Given the description of an element on the screen output the (x, y) to click on. 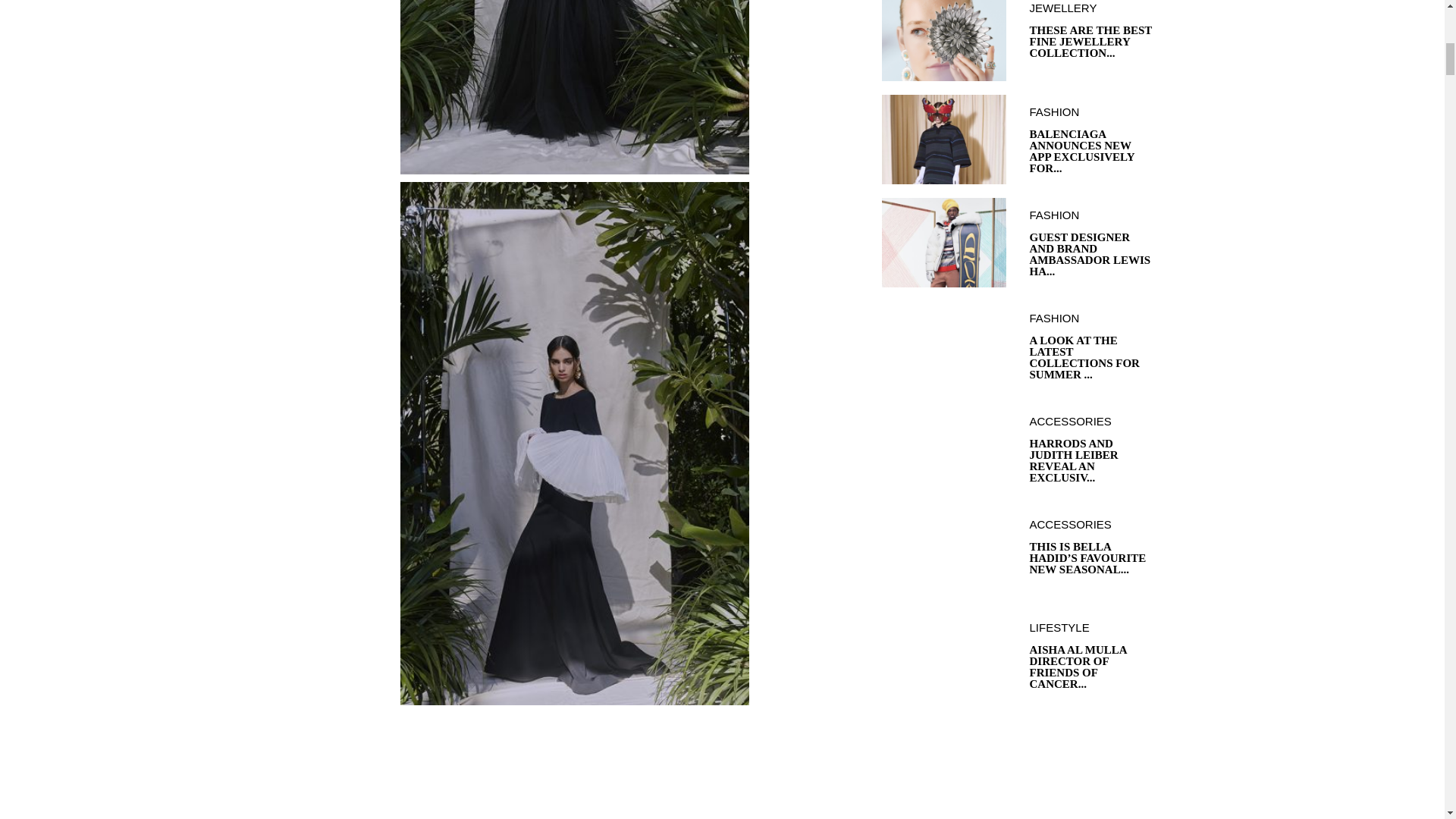
FASHION (1091, 111)
THESE ARE THE BEST FINE JEWELLERY COLLECTION... (1091, 41)
JEWELLERY (1091, 7)
